Given the description of an element on the screen output the (x, y) to click on. 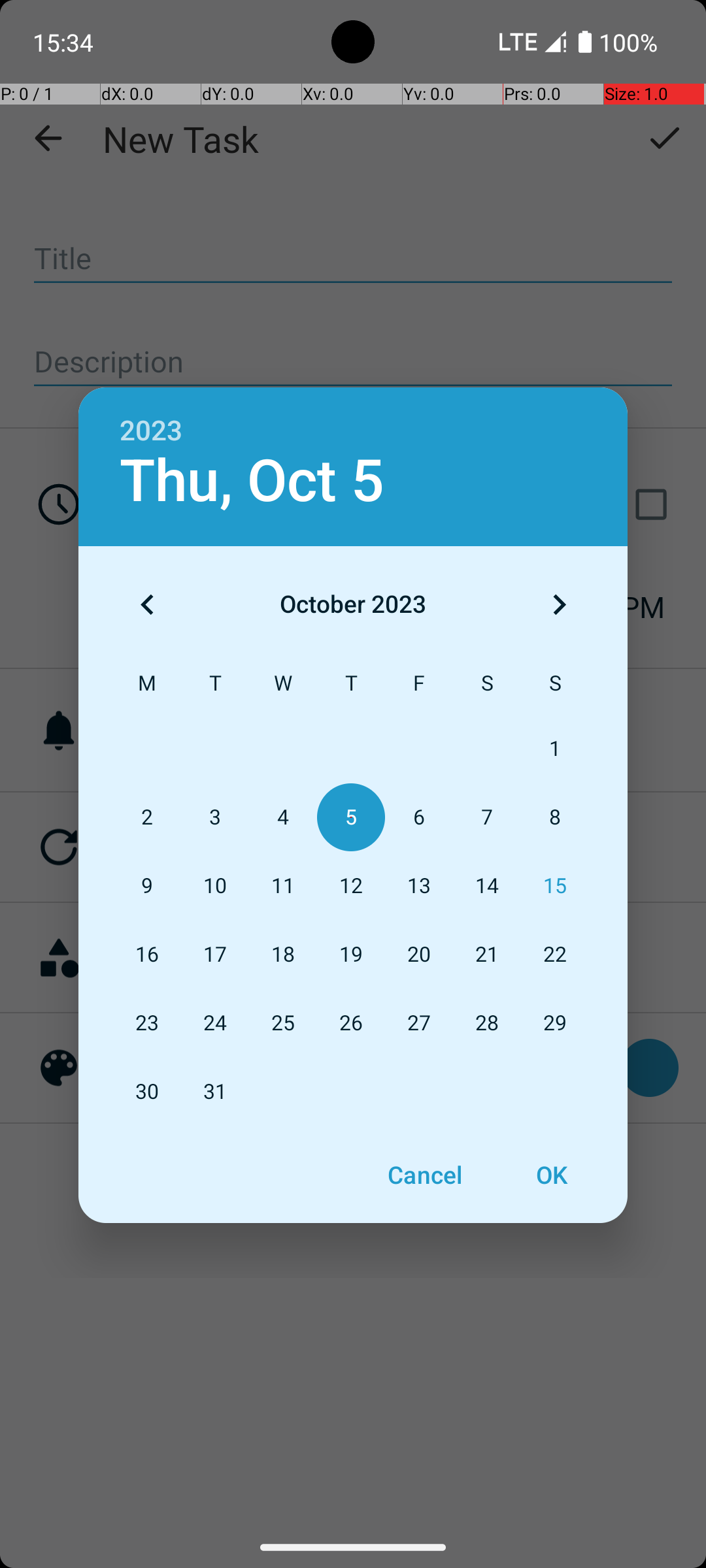
Thu, Oct 5 Element type: android.widget.TextView (251, 480)
